Given the description of an element on the screen output the (x, y) to click on. 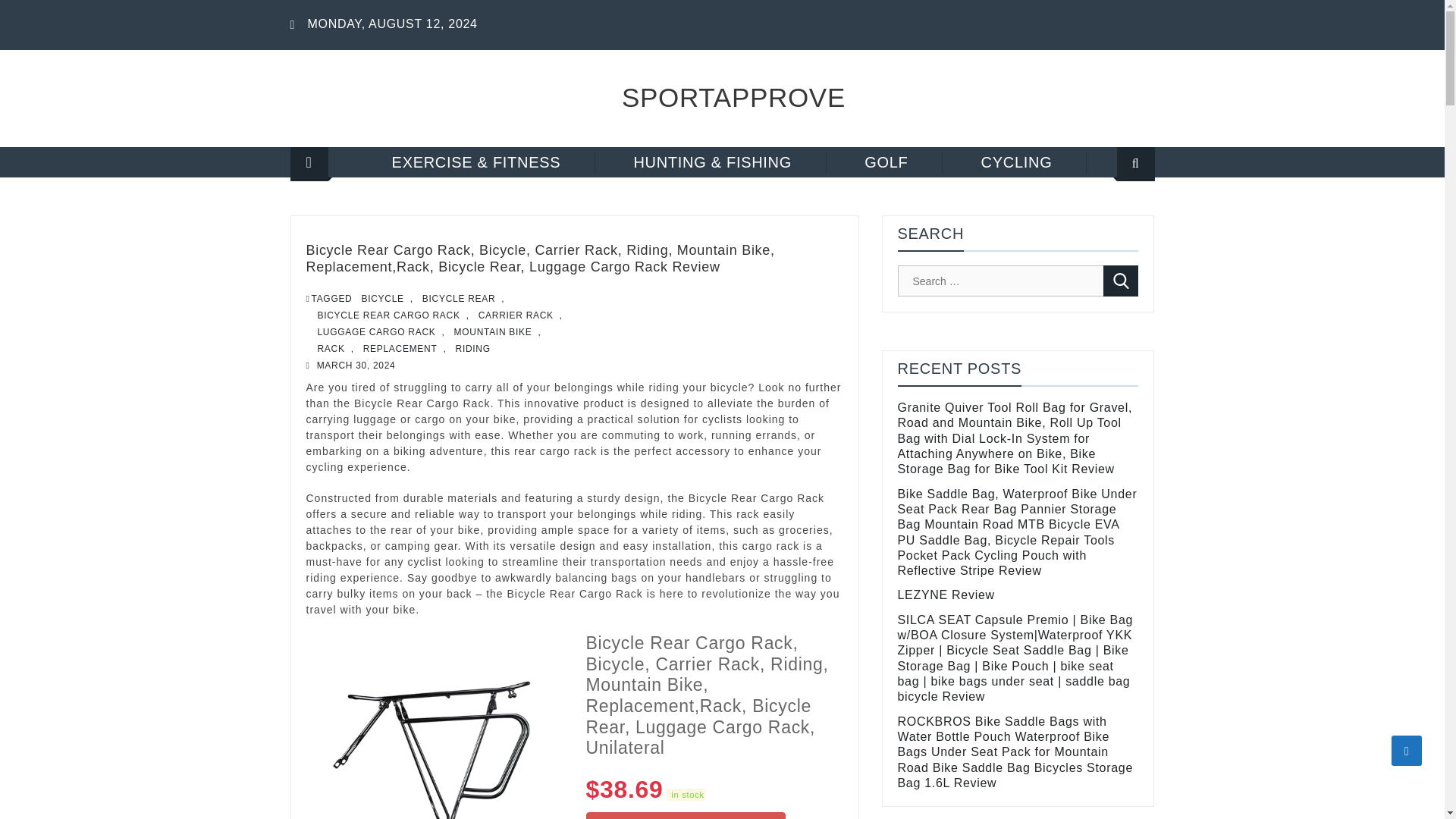
RIDING (472, 348)
RACK (330, 348)
BICYCLE (382, 298)
CARRIER RACK (515, 315)
Search (1120, 280)
CYCLING (1017, 162)
GOLF (885, 162)
Last updated on August 12, 2024 2:16 pm (686, 794)
Search (1120, 280)
LUGGAGE CARGO RACK (376, 331)
